Given the description of an element on the screen output the (x, y) to click on. 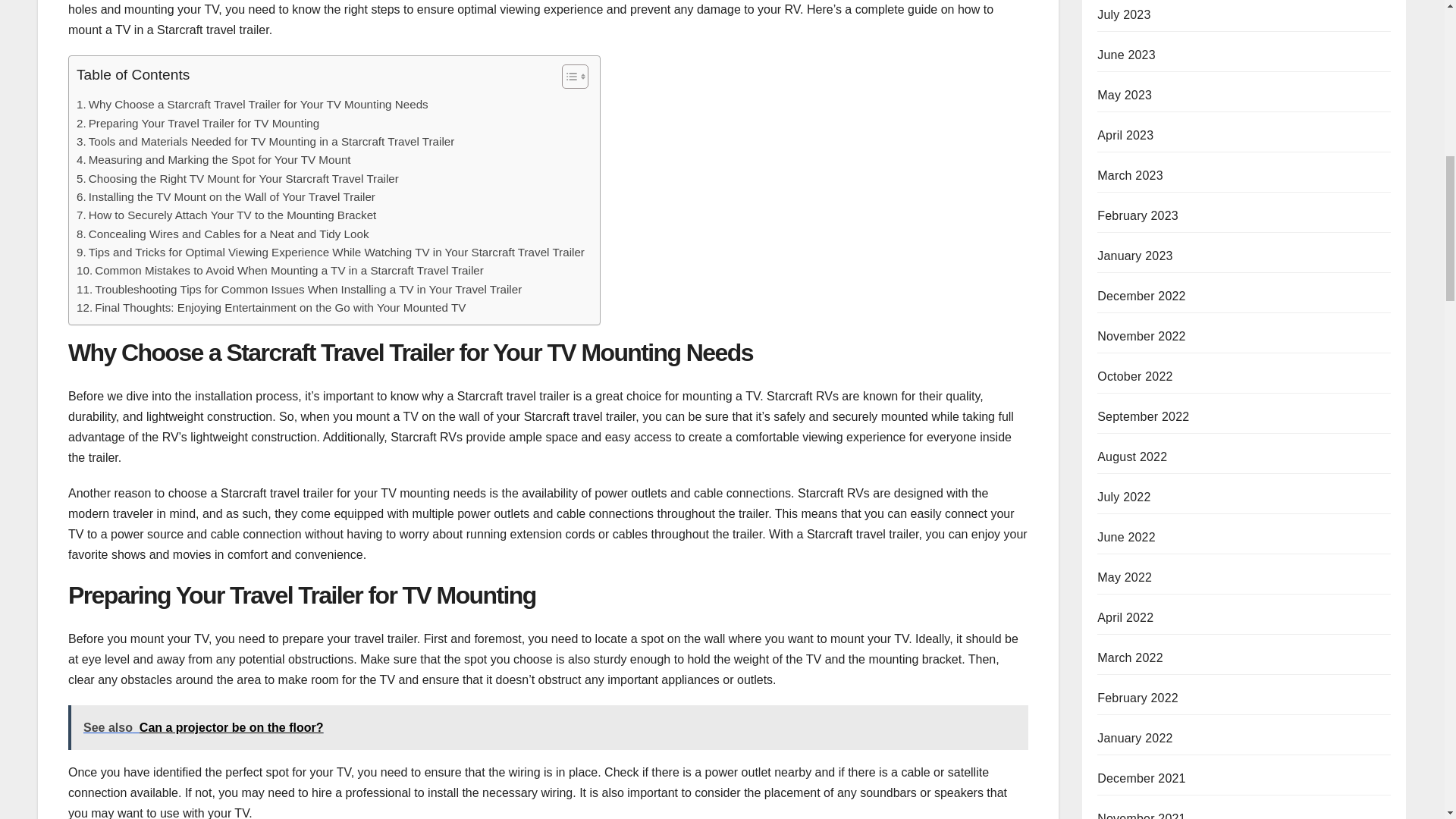
Measuring and Marking the Spot for Your TV Mount (213, 159)
